Given the description of an element on the screen output the (x, y) to click on. 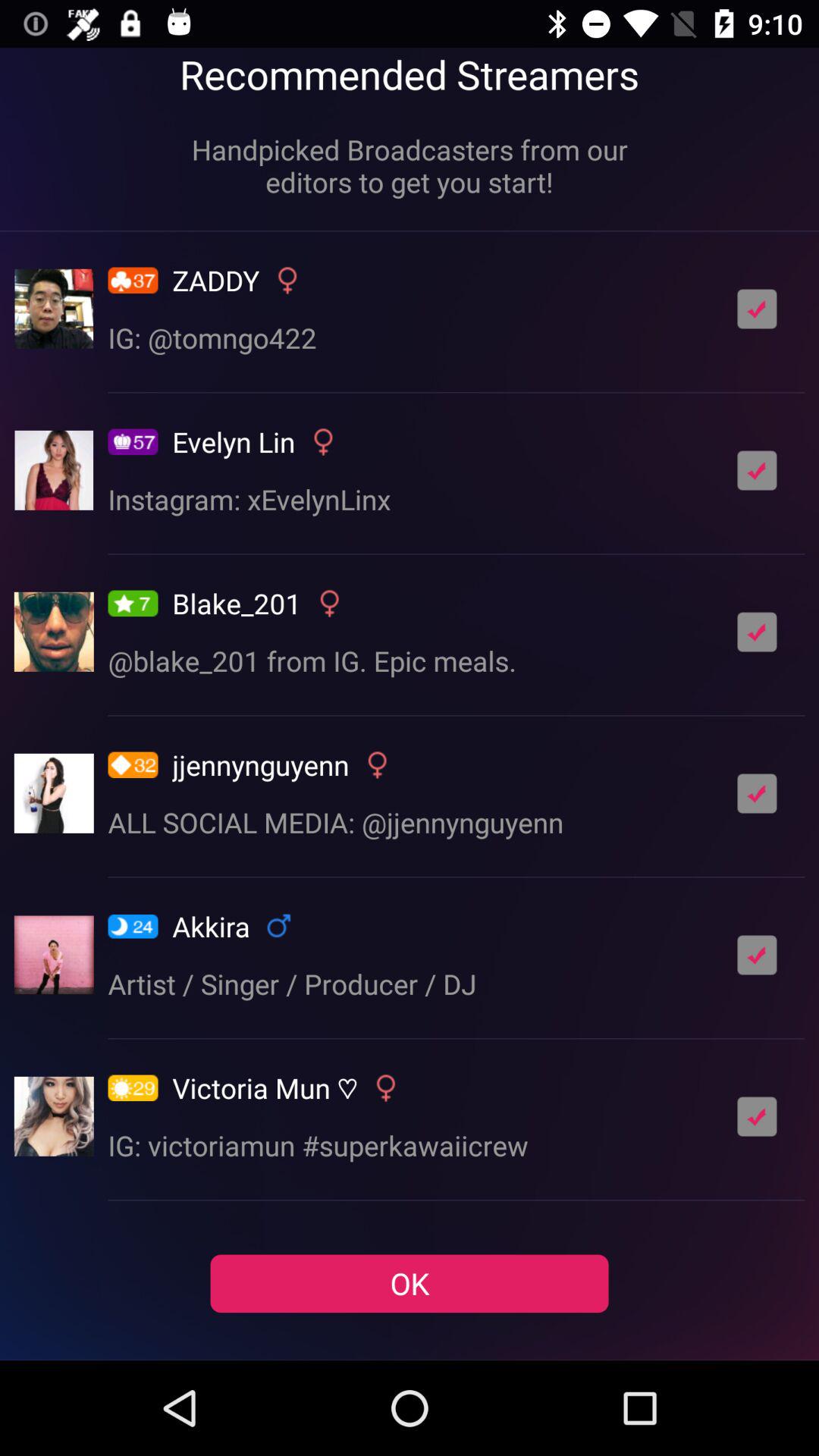
ok (756, 631)
